Given the description of an element on the screen output the (x, y) to click on. 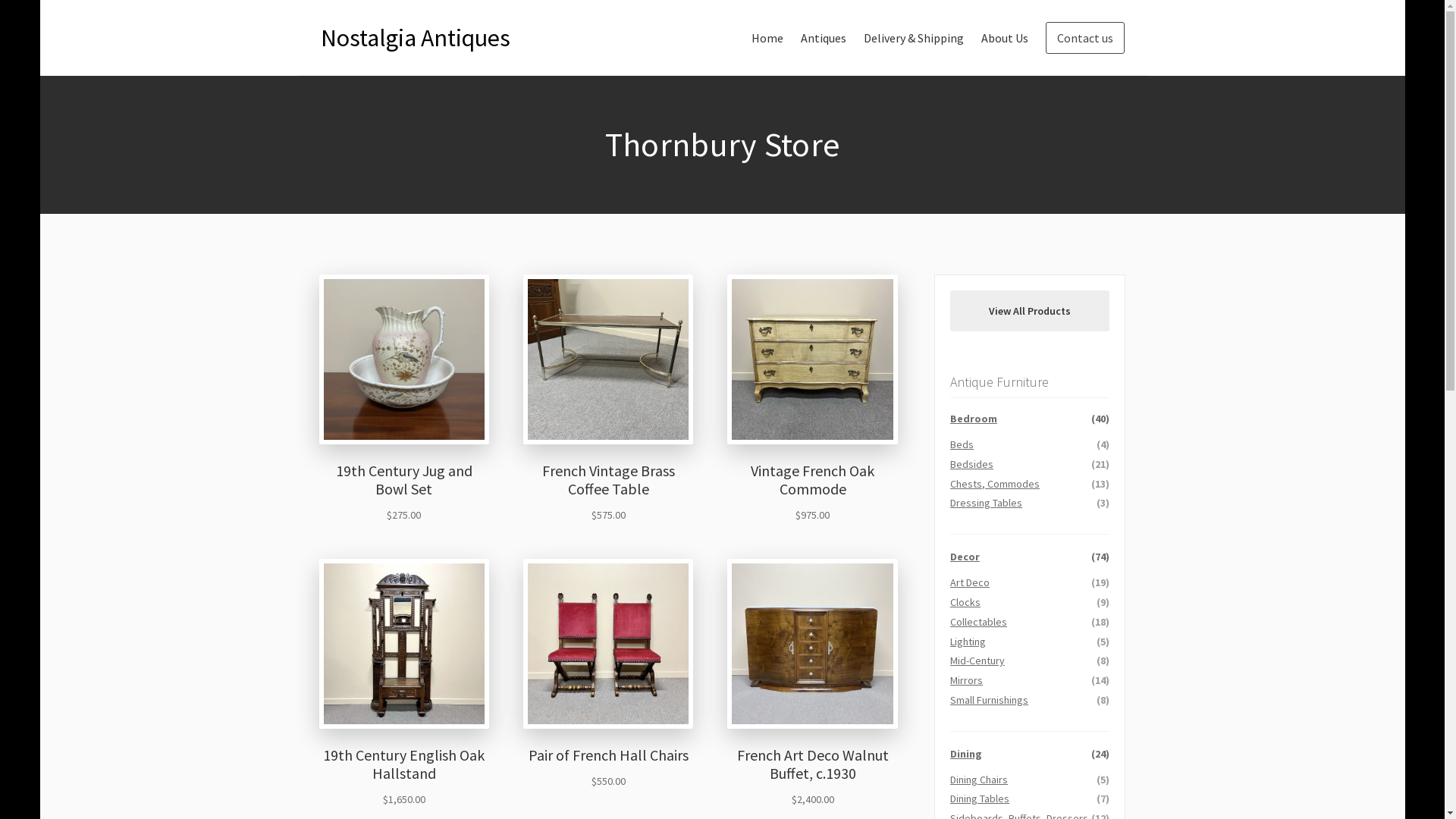
Dining Tables Element type: text (979, 798)
Beds Element type: text (961, 444)
Antiques Element type: text (823, 37)
Bedsides Element type: text (971, 463)
Chests, Commodes Element type: text (994, 483)
Dining Chairs Element type: text (978, 779)
Collectables Element type: text (978, 621)
Art Deco Element type: text (969, 582)
Nostalgia Antiques Element type: text (414, 37)
Home Element type: text (766, 37)
Mirrors Element type: text (966, 680)
Pair of French Hall Chairs
$550.00 Element type: text (608, 674)
View All Products Element type: text (1029, 311)
Mid-Century Element type: text (977, 660)
19th Century English Oak Hallstand Element type: hover (404, 643)
Bedroom Element type: text (973, 418)
Delivery & Shipping Element type: text (912, 37)
19th Century English Oak Hallstand
$1,650.00 Element type: text (404, 683)
Lighting Element type: text (967, 641)
Decor Element type: text (964, 556)
Vintage French Oak Commode Element type: hover (812, 359)
Dining Element type: text (966, 753)
Contact us Element type: text (1083, 37)
French Art Deco Walnut Buffet, c.1930
$2,400.00 Element type: text (812, 683)
Dressing Tables Element type: text (986, 502)
Small Furnishings Element type: text (989, 699)
Clocks Element type: text (965, 601)
French Art Deco Walnut Buffet, c.1930 Element type: hover (812, 643)
19th Century Jug and Bowl Set Element type: hover (404, 359)
Vintage French Oak Commode
$975.00 Element type: text (812, 399)
About Us Element type: text (1004, 37)
French Vintage Brass Coffee Table
$575.00 Element type: text (608, 399)
French Vintage Brass Coffee Table Element type: hover (608, 359)
Pair of French Hall Chairs Element type: hover (608, 643)
19th Century Jug and Bowl Set
$275.00 Element type: text (404, 399)
